Given the description of an element on the screen output the (x, y) to click on. 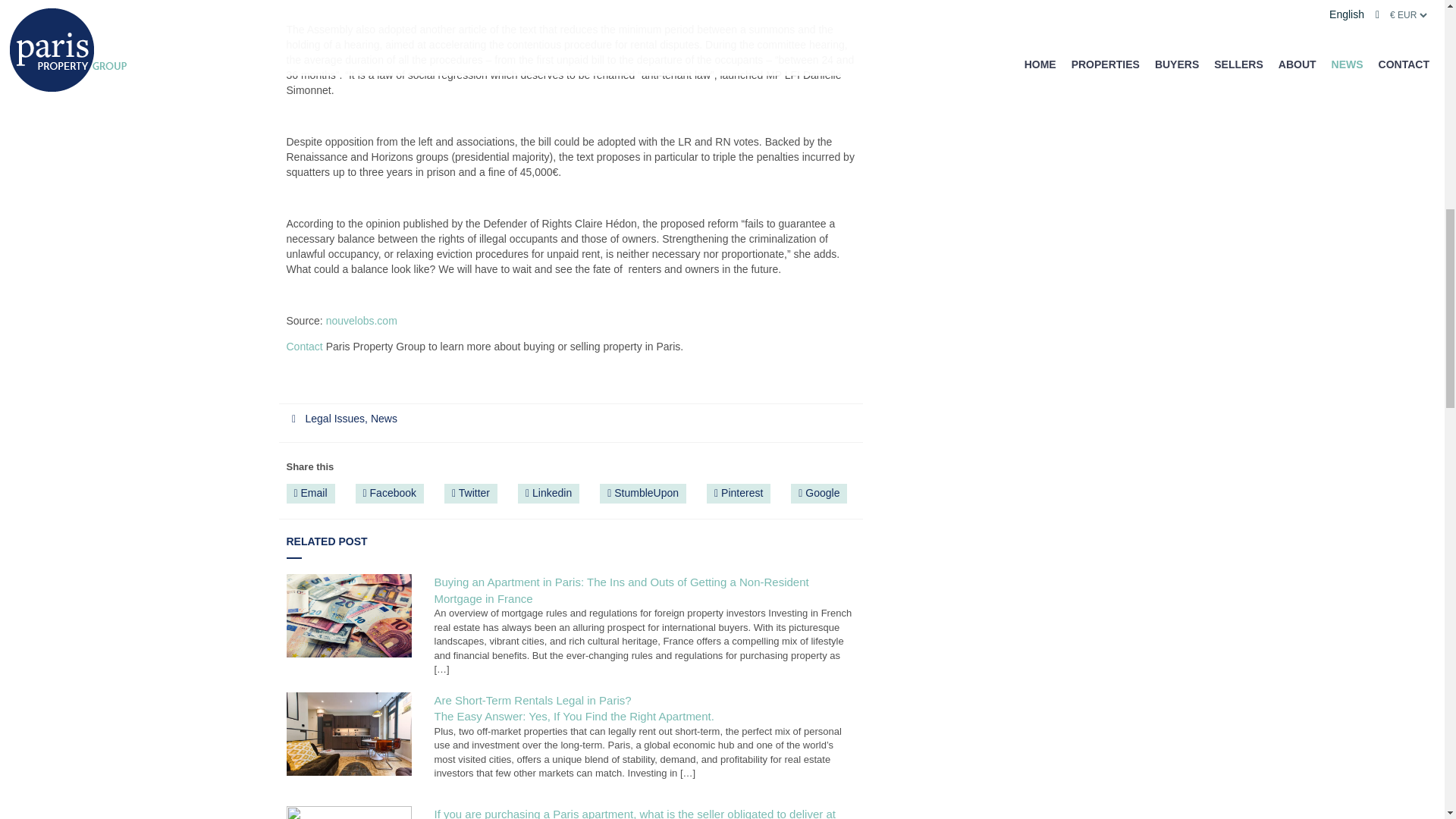
Contact (304, 346)
Pinterest (738, 493)
Facebook (390, 493)
Google (818, 493)
Twitter (470, 493)
Linkedin (548, 493)
nouvelobs.com (361, 320)
StumbleUpon (642, 493)
